Given the description of an element on the screen output the (x, y) to click on. 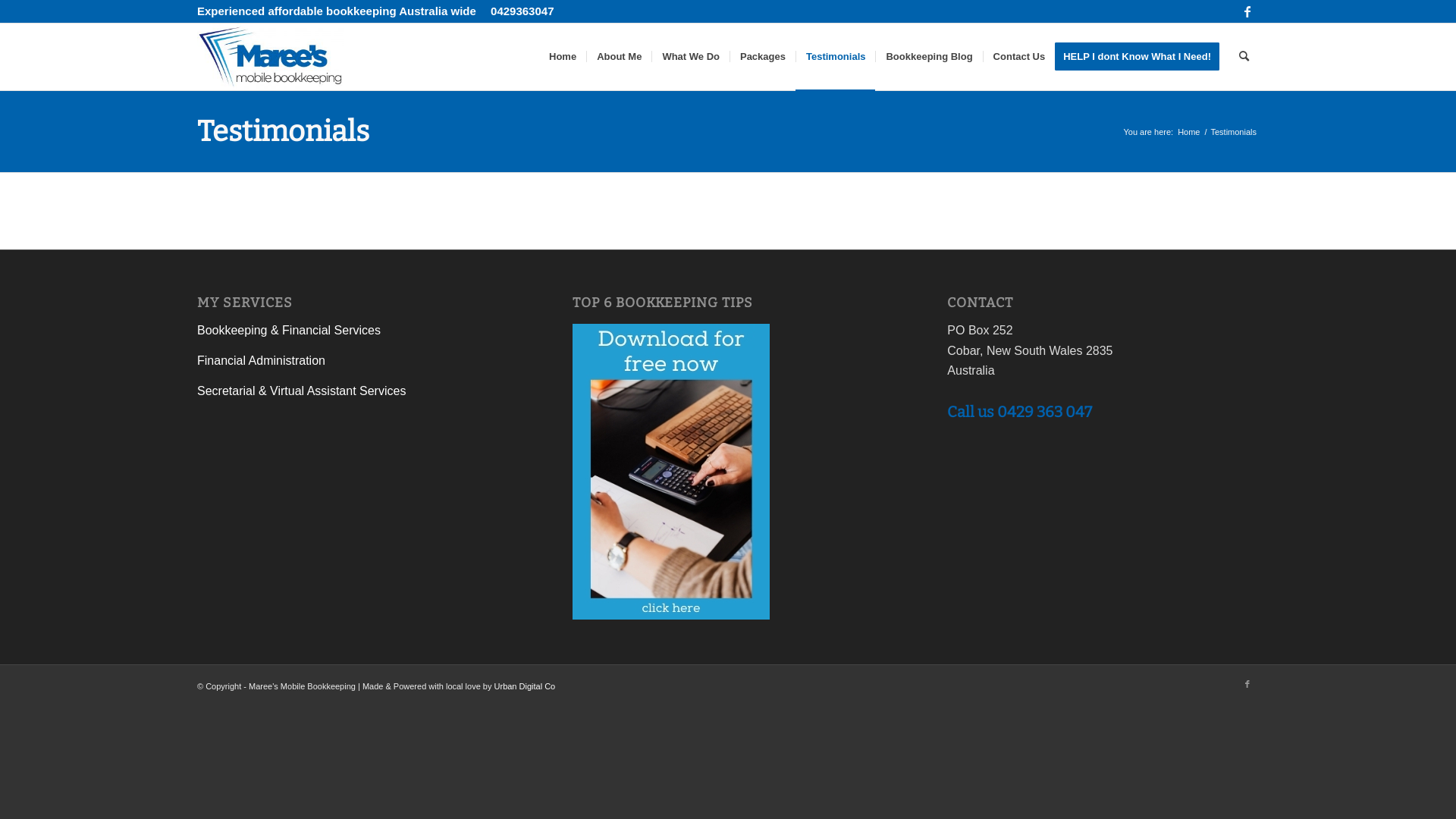
What We Do Element type: text (690, 56)
Urban Digital Co Element type: text (524, 685)
Call us 0429 363 047 Element type: text (1019, 411)
0429363047 Element type: text (521, 10)
Testimonials Element type: text (283, 130)
Contact Us Element type: text (1018, 56)
Home Element type: text (562, 56)
Packages Element type: text (762, 56)
Bookkeeping Blog Element type: text (928, 56)
Facebook Element type: hover (1247, 683)
Secretarial & Virtual Assistant Services Element type: text (301, 390)
HELP I dont Know What I Need! Element type: text (1141, 56)
Testimonials Element type: text (835, 56)
Bookkeeping & Financial Services Element type: text (288, 329)
Home Element type: text (1188, 132)
About Me Element type: text (618, 56)
Facebook Element type: hover (1247, 11)
Financial Administration Element type: text (261, 360)
